Given the description of an element on the screen output the (x, y) to click on. 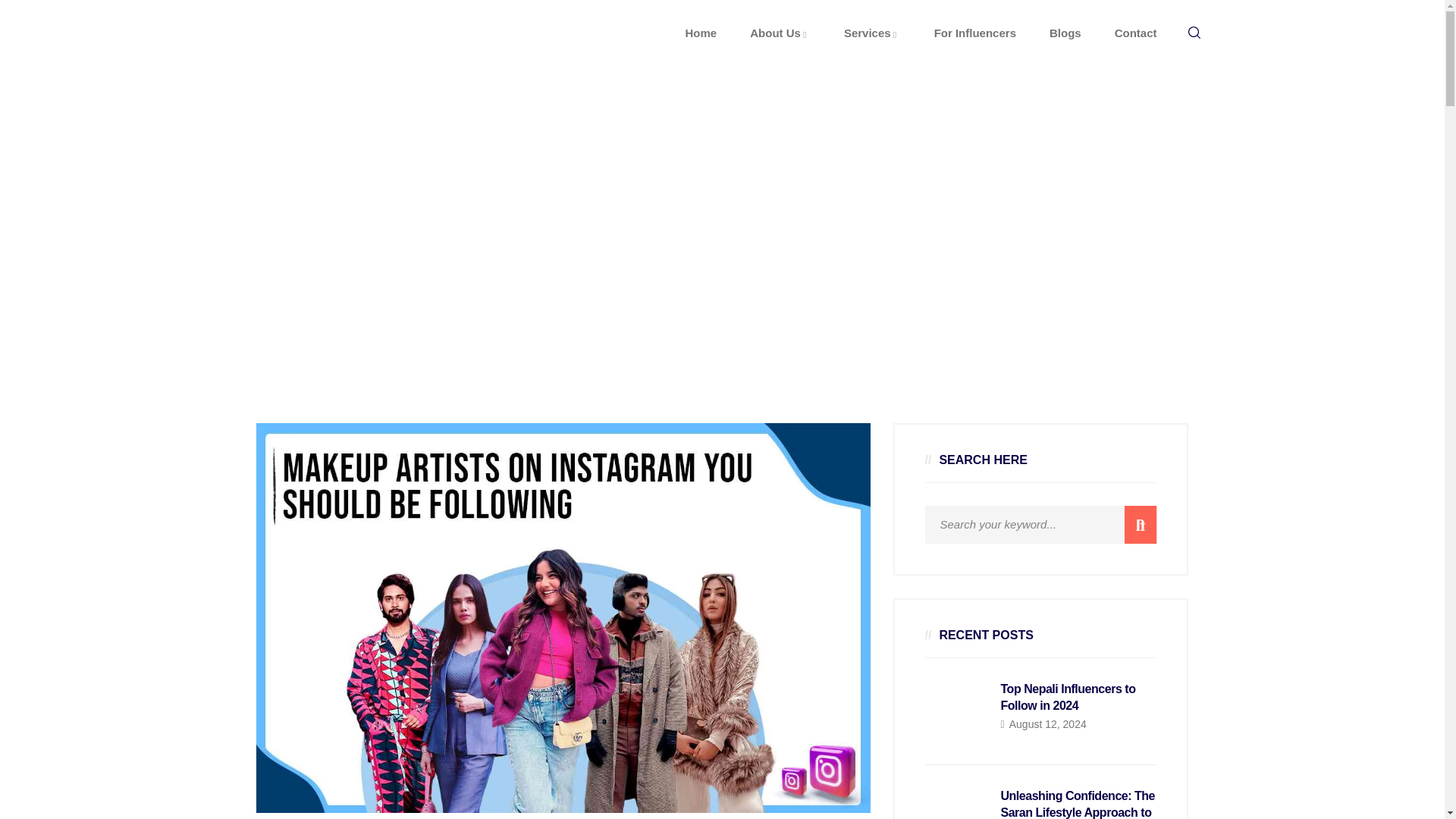
Services (872, 33)
About Us (780, 33)
For Influencers (975, 33)
